Given the description of an element on the screen output the (x, y) to click on. 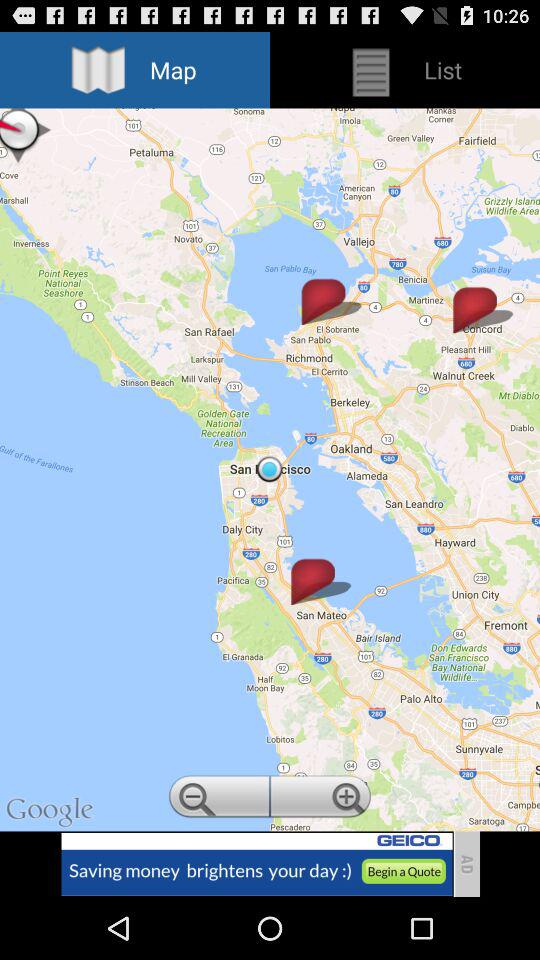
advertisement (256, 864)
